Given the description of an element on the screen output the (x, y) to click on. 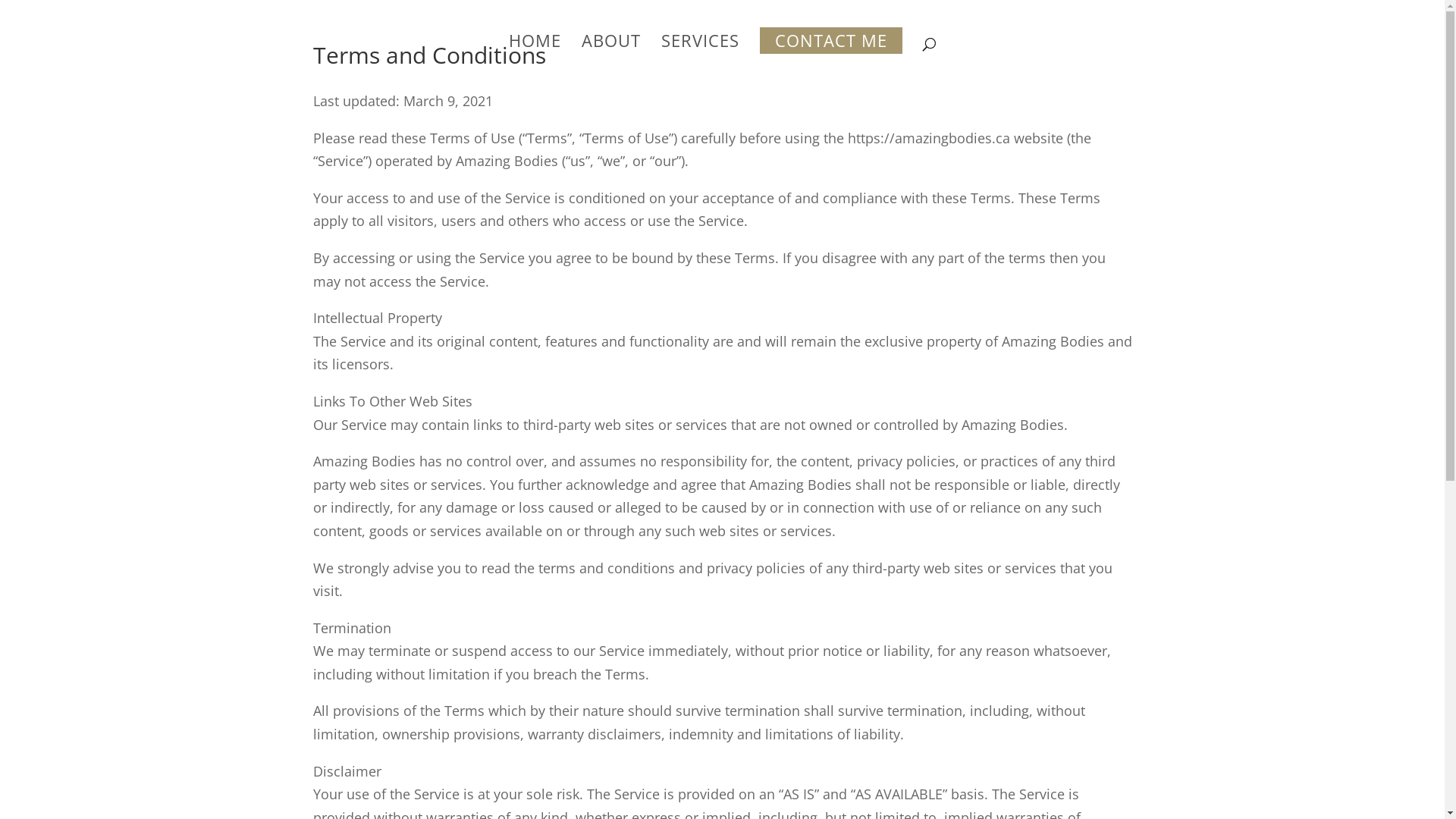
ABOUT Element type: text (610, 53)
SERVICES Element type: text (700, 53)
HOME Element type: text (534, 53)
CONTACT ME Element type: text (831, 53)
